Given the description of an element on the screen output the (x, y) to click on. 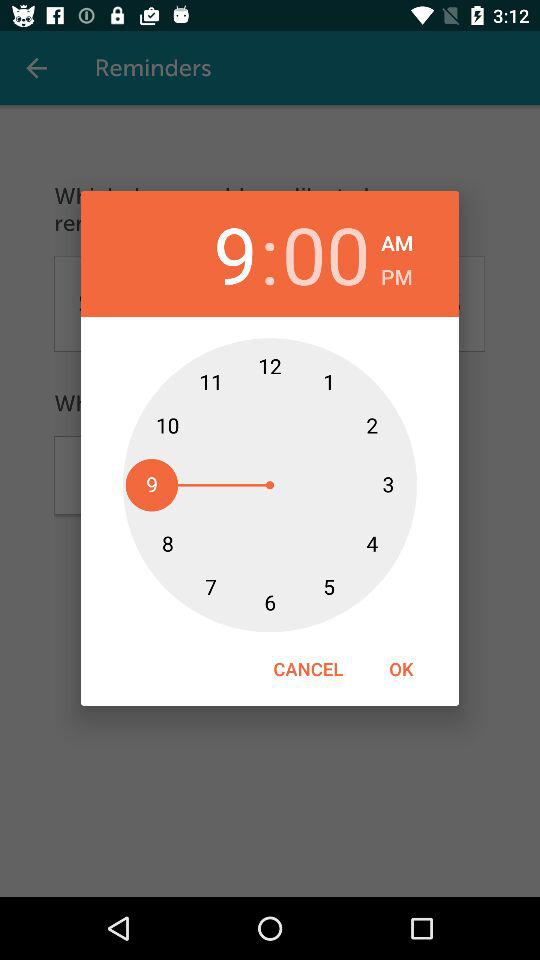
open icon next to the am icon (325, 253)
